Given the description of an element on the screen output the (x, y) to click on. 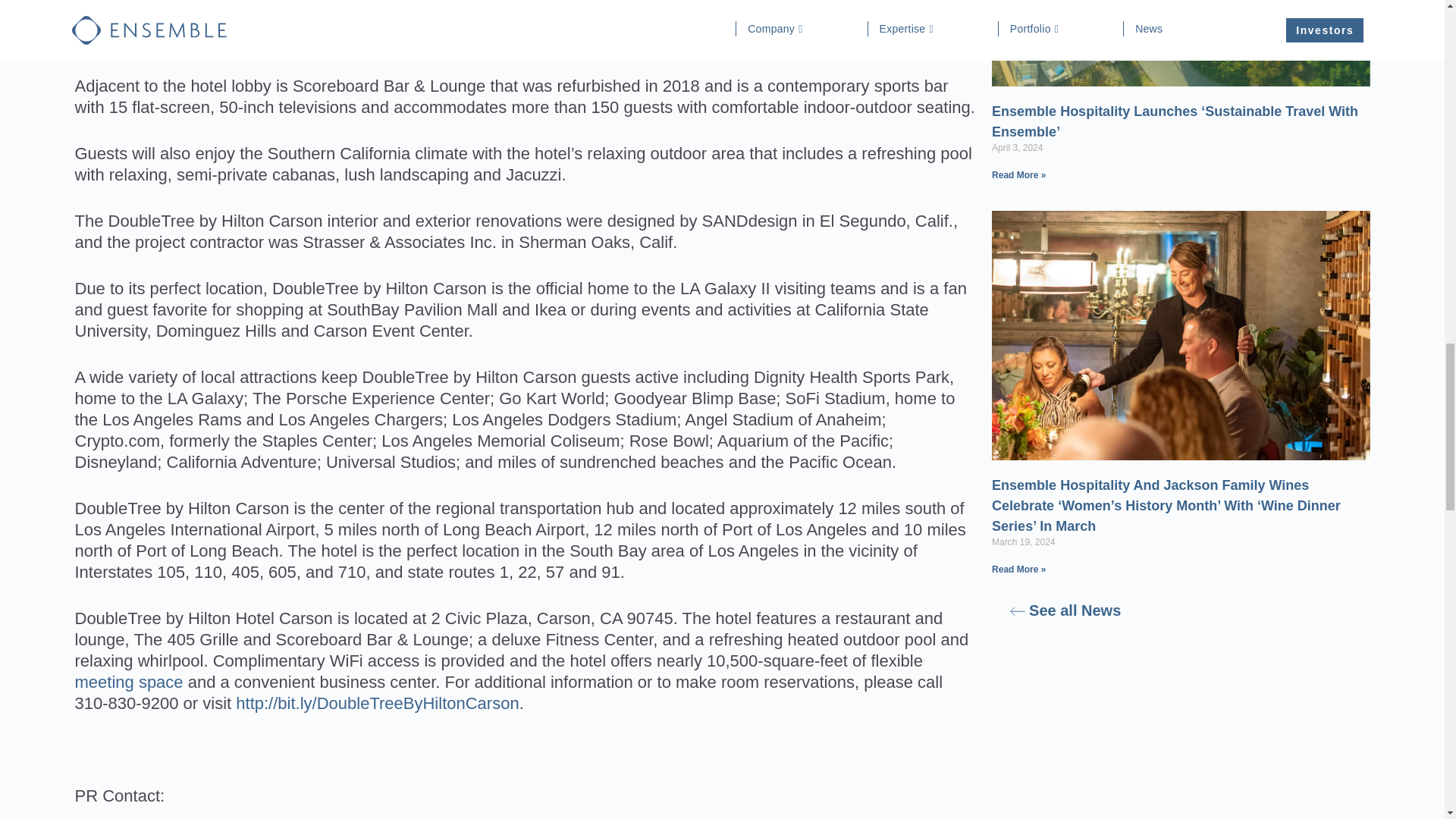
meeting space (128, 681)
See all News (1064, 610)
